Given the description of an element on the screen output the (x, y) to click on. 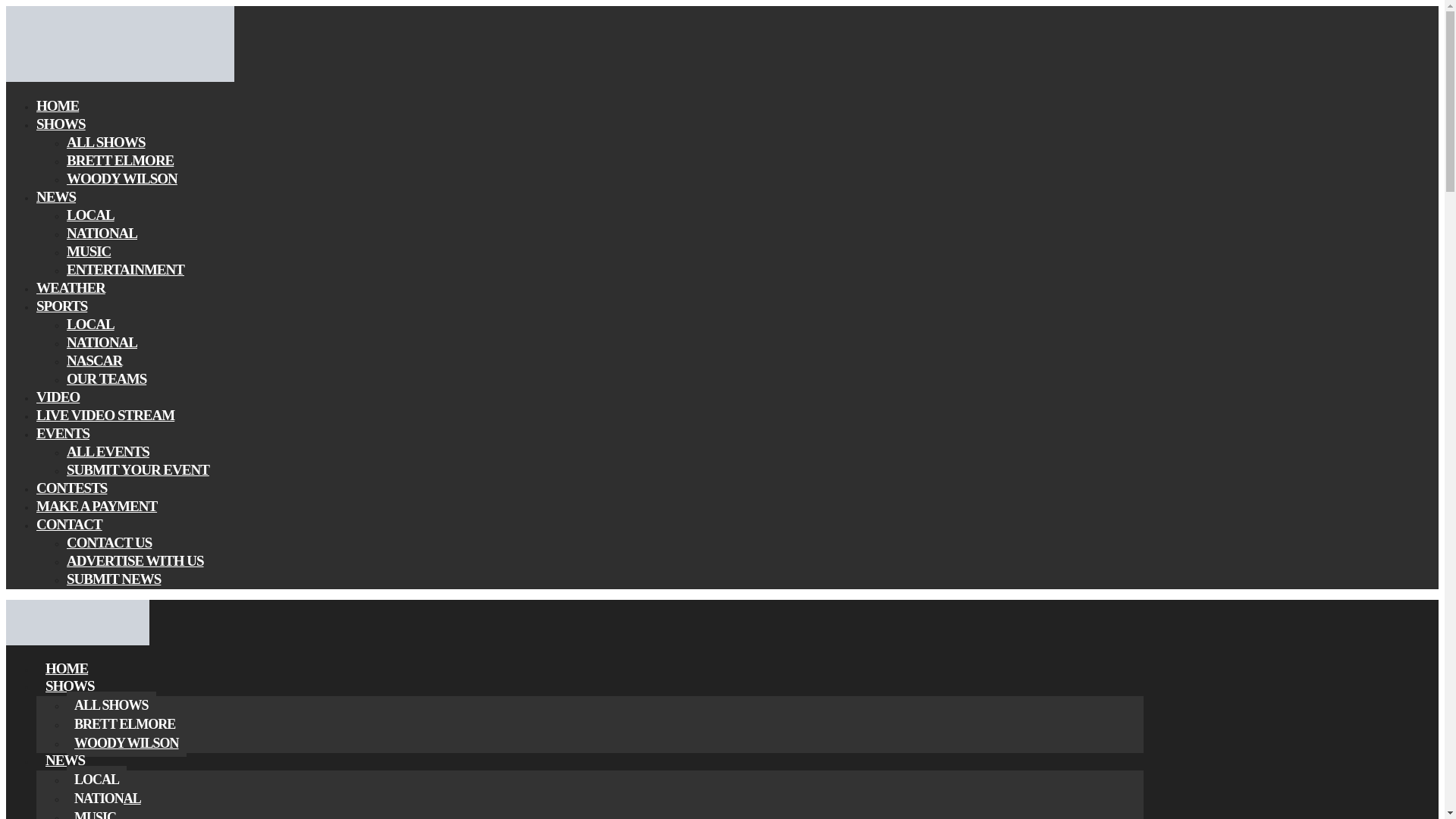
CONTACT US (108, 542)
SHOWS (69, 685)
LOCAL (96, 779)
WJLX 101.5 FM (77, 640)
NEWS (65, 759)
ALL SHOWS (105, 141)
ALL SHOWS (110, 705)
SUBMIT NEWS (113, 578)
WEATHER (70, 287)
WOODY WILSON (121, 178)
NASCAR (94, 360)
NATIONAL (101, 341)
HOME (66, 668)
WJLX 101.5 FM (119, 78)
SHOWS (60, 123)
